Given the description of an element on the screen output the (x, y) to click on. 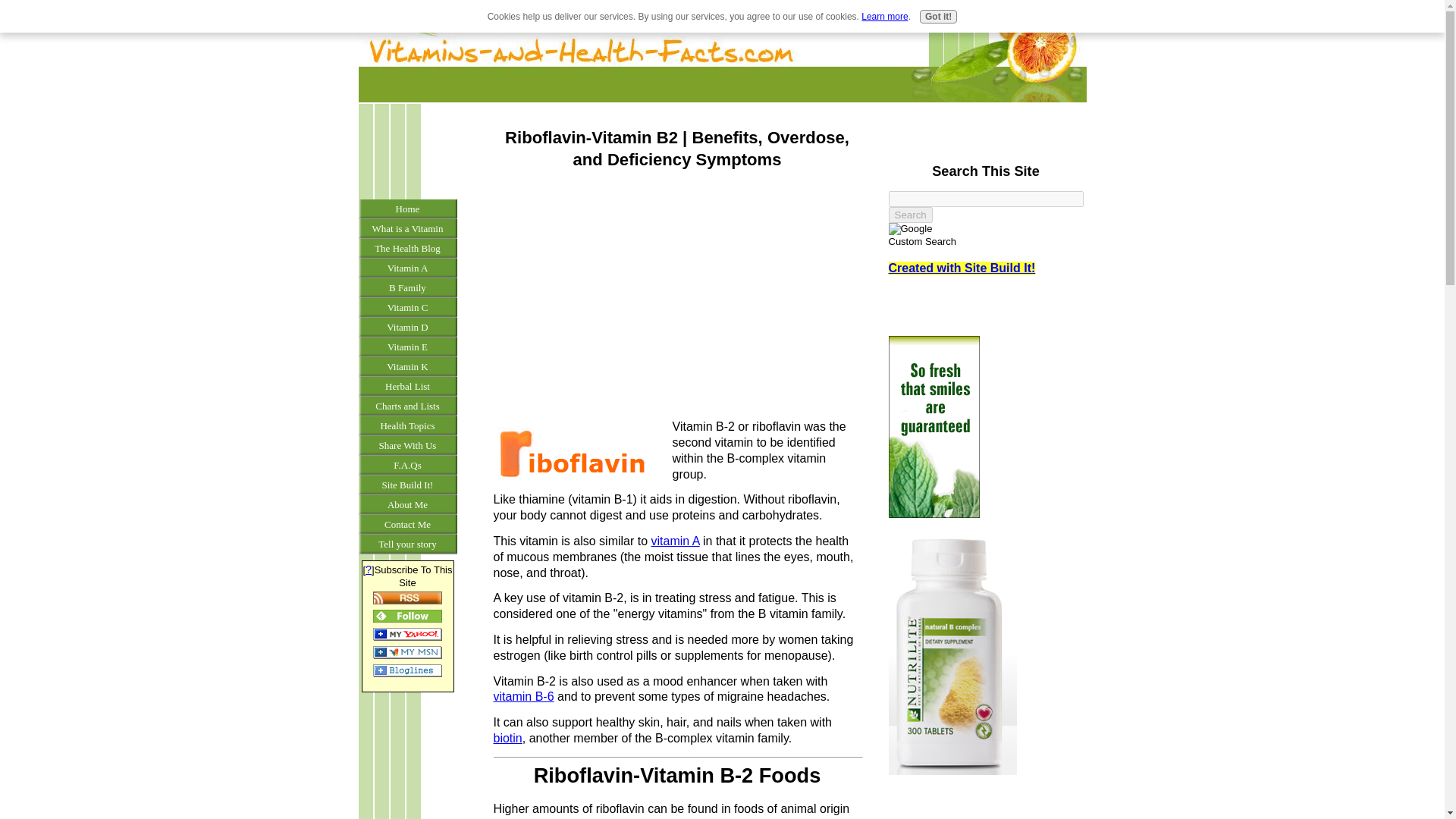
Share With Us (407, 445)
Vitamin E (407, 347)
Health Topics (407, 425)
Advertisement (406, 152)
Created with Site Build It! (961, 267)
Herbal List (407, 386)
Home (407, 209)
Vitamin A (407, 268)
Contact Me (407, 524)
B Family (407, 288)
Vitamin C (407, 307)
? (368, 569)
Search (910, 214)
Site Build It! (407, 485)
